Given the description of an element on the screen output the (x, y) to click on. 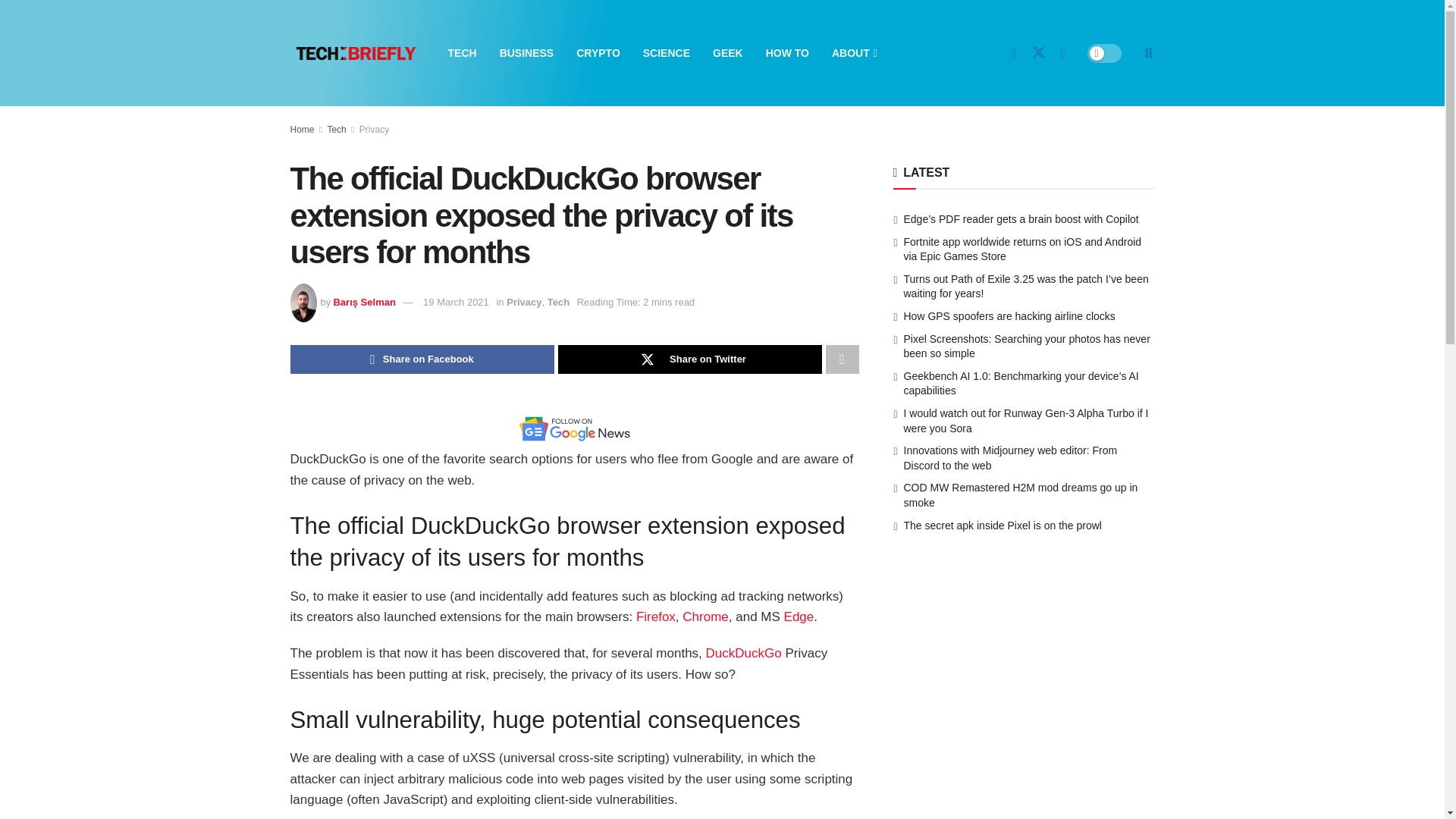
Home (301, 129)
SCIENCE (666, 53)
Tech (336, 129)
HOW TO (787, 53)
Privacy (373, 129)
BUSINESS (526, 53)
CRYPTO (598, 53)
ABOUT (853, 53)
